Given the description of an element on the screen output the (x, y) to click on. 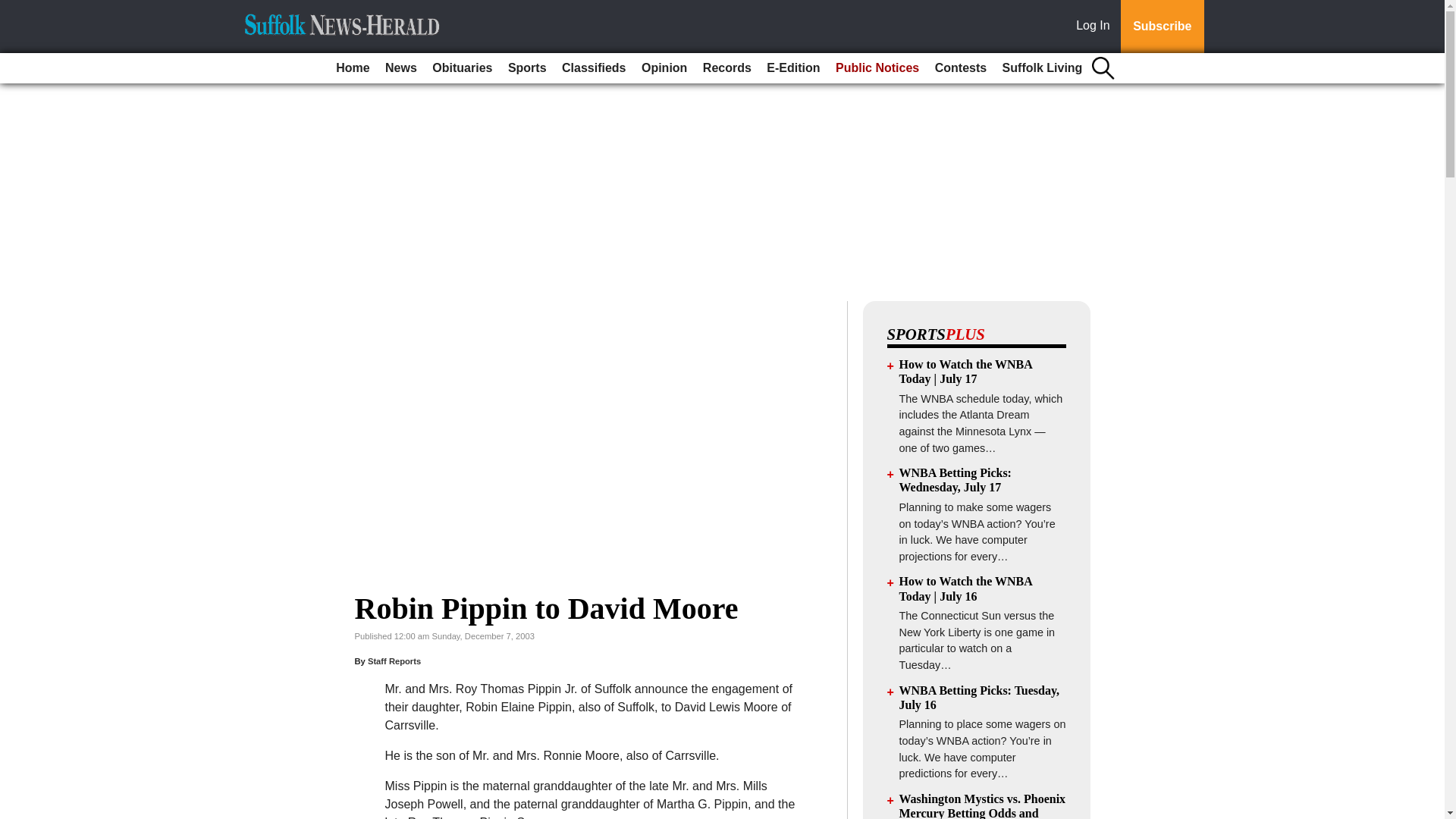
Subscribe (1162, 26)
Opinion (663, 68)
WNBA Betting Picks: Wednesday, July 17 (955, 479)
Log In (1095, 26)
Home (352, 68)
Classifieds (593, 68)
Obituaries (461, 68)
Public Notices (876, 68)
Records (727, 68)
Go (13, 9)
Sports (527, 68)
Suffolk Living (1042, 68)
News (400, 68)
Staff Reports (394, 660)
WNBA Betting Picks: Tuesday, July 16 (979, 697)
